Given the description of an element on the screen output the (x, y) to click on. 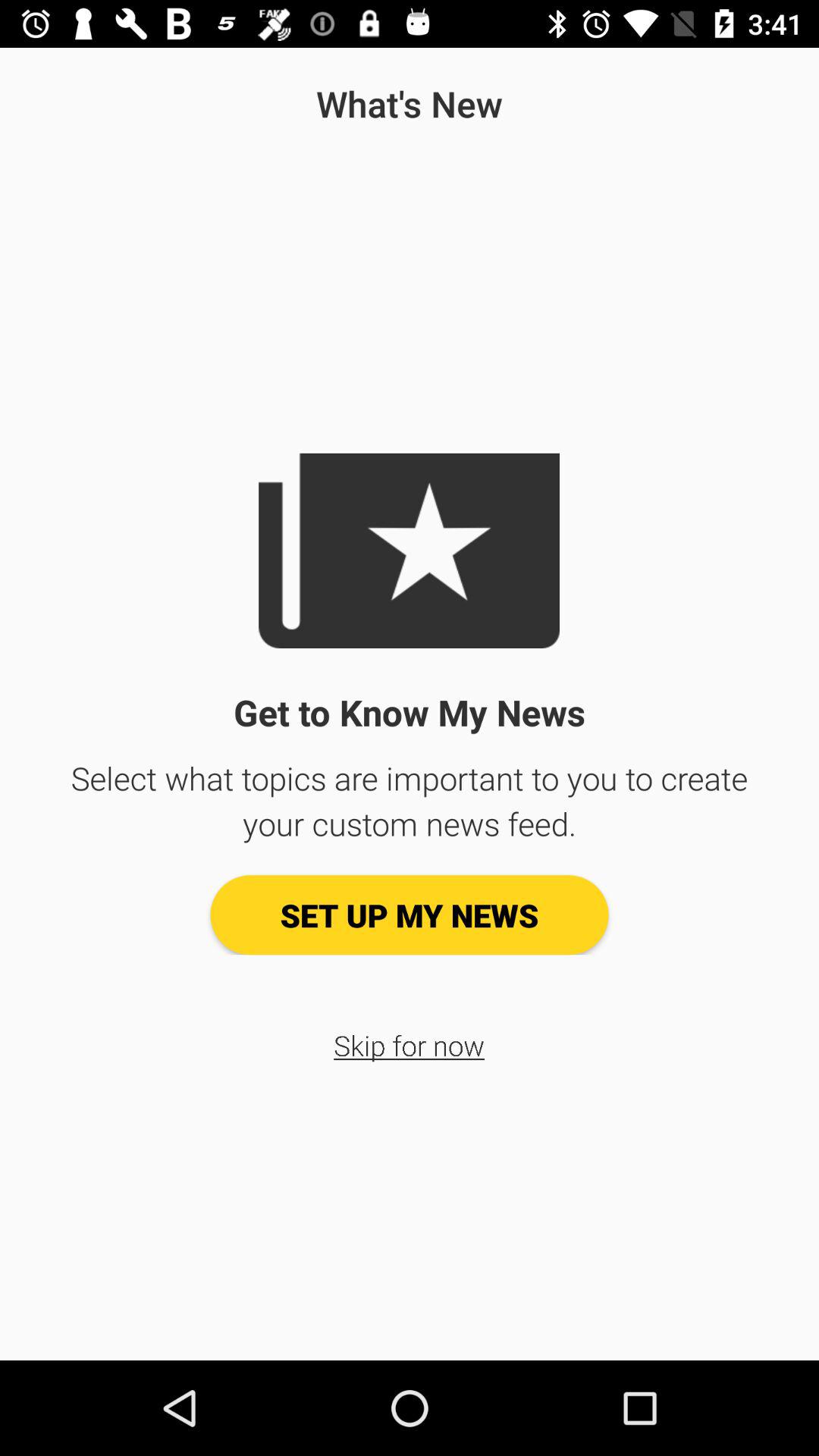
turn on the item below the select what topics icon (409, 914)
